Given the description of an element on the screen output the (x, y) to click on. 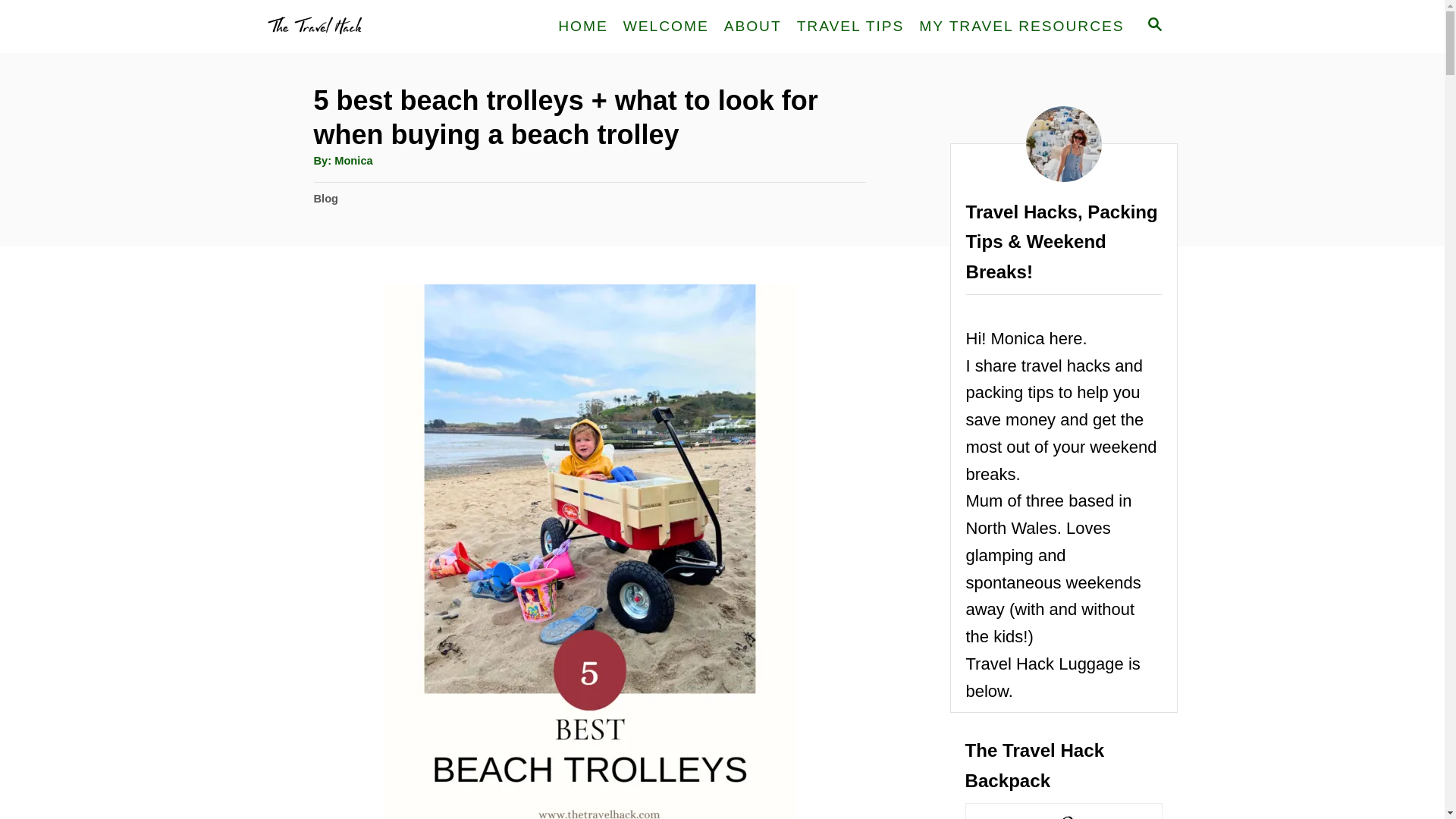
HOME (582, 26)
Monica (353, 160)
The Travel Hack (394, 26)
SEARCH (1153, 26)
TRAVEL TIPS (850, 26)
ABOUT (752, 26)
WELCOME (665, 26)
Blog (326, 198)
MY TRAVEL RESOURCES (1021, 26)
